Given the description of an element on the screen output the (x, y) to click on. 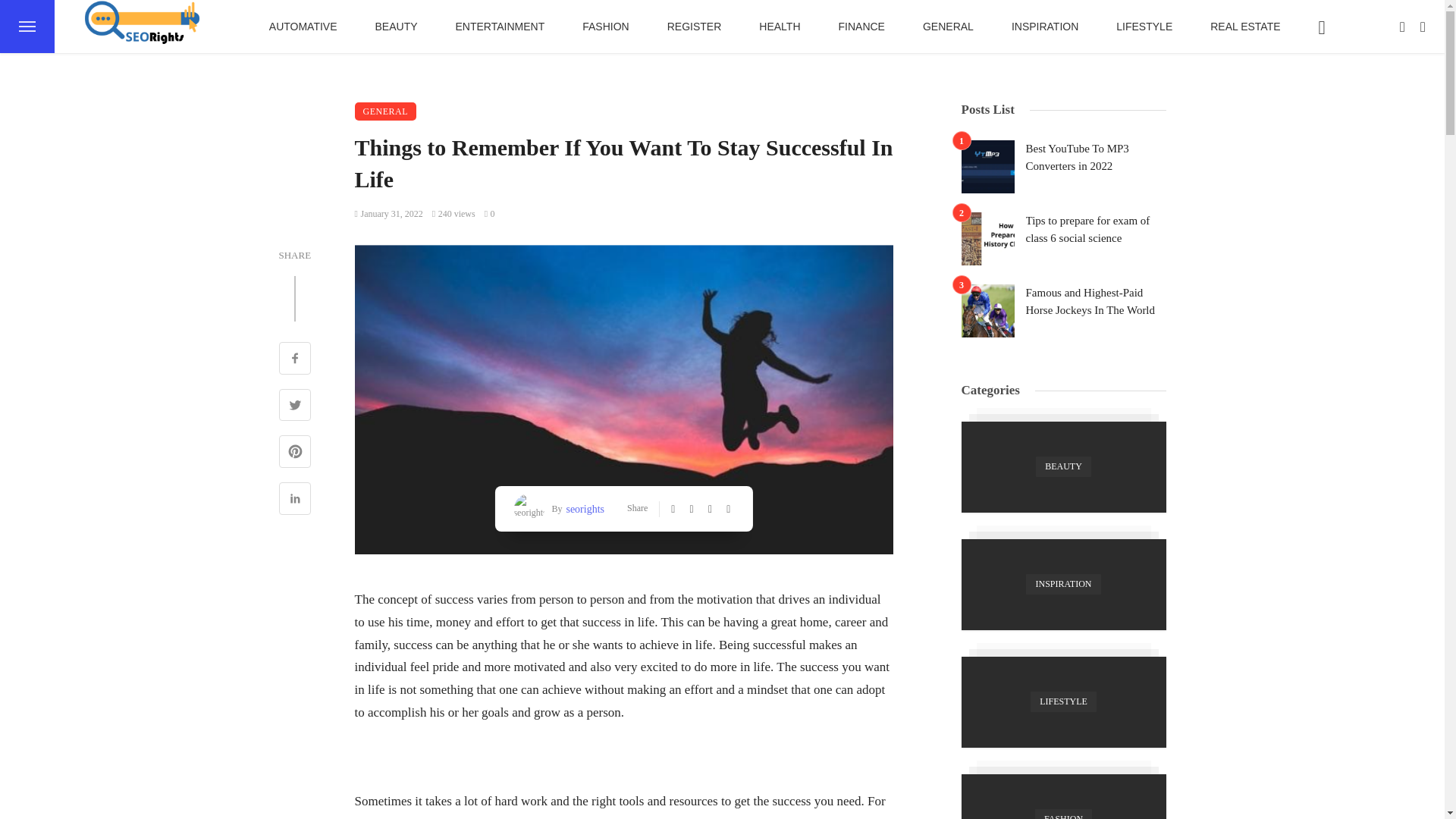
seorights (583, 508)
ENTERTAINMENT (500, 26)
GENERAL (948, 26)
LIFESTYLE (1144, 26)
January 31, 2022 at 11:23 am (389, 213)
BEAUTY (396, 26)
0 (489, 213)
AUTOMATIVE (303, 26)
FINANCE (860, 26)
Share on Twitter (295, 407)
Share on Pinterest (295, 452)
HEALTH (778, 26)
FASHION (605, 26)
REGISTER (694, 26)
